Given the description of an element on the screen output the (x, y) to click on. 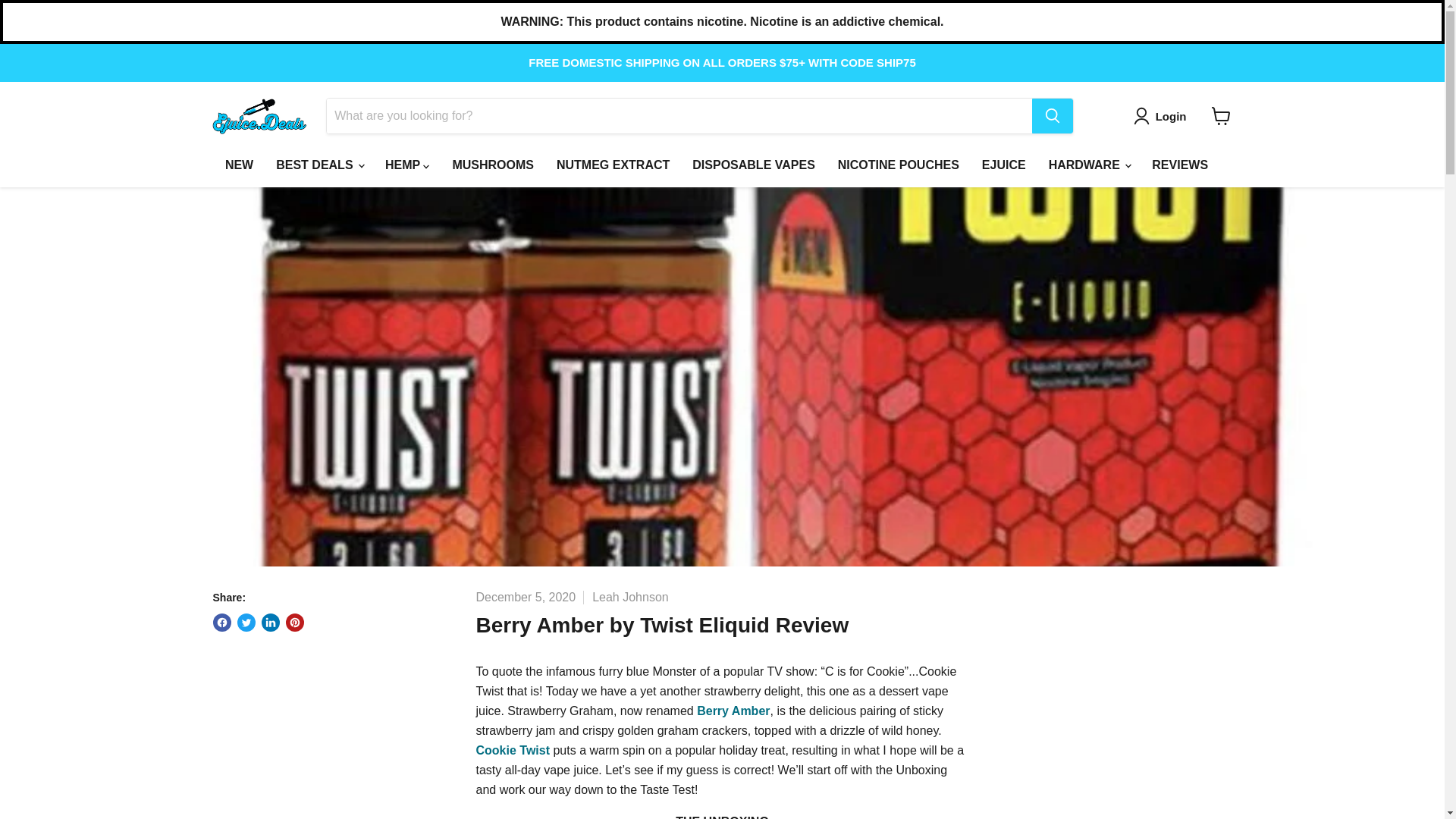
NEW (239, 164)
Login (1163, 116)
View cart (1221, 115)
